Given the description of an element on the screen output the (x, y) to click on. 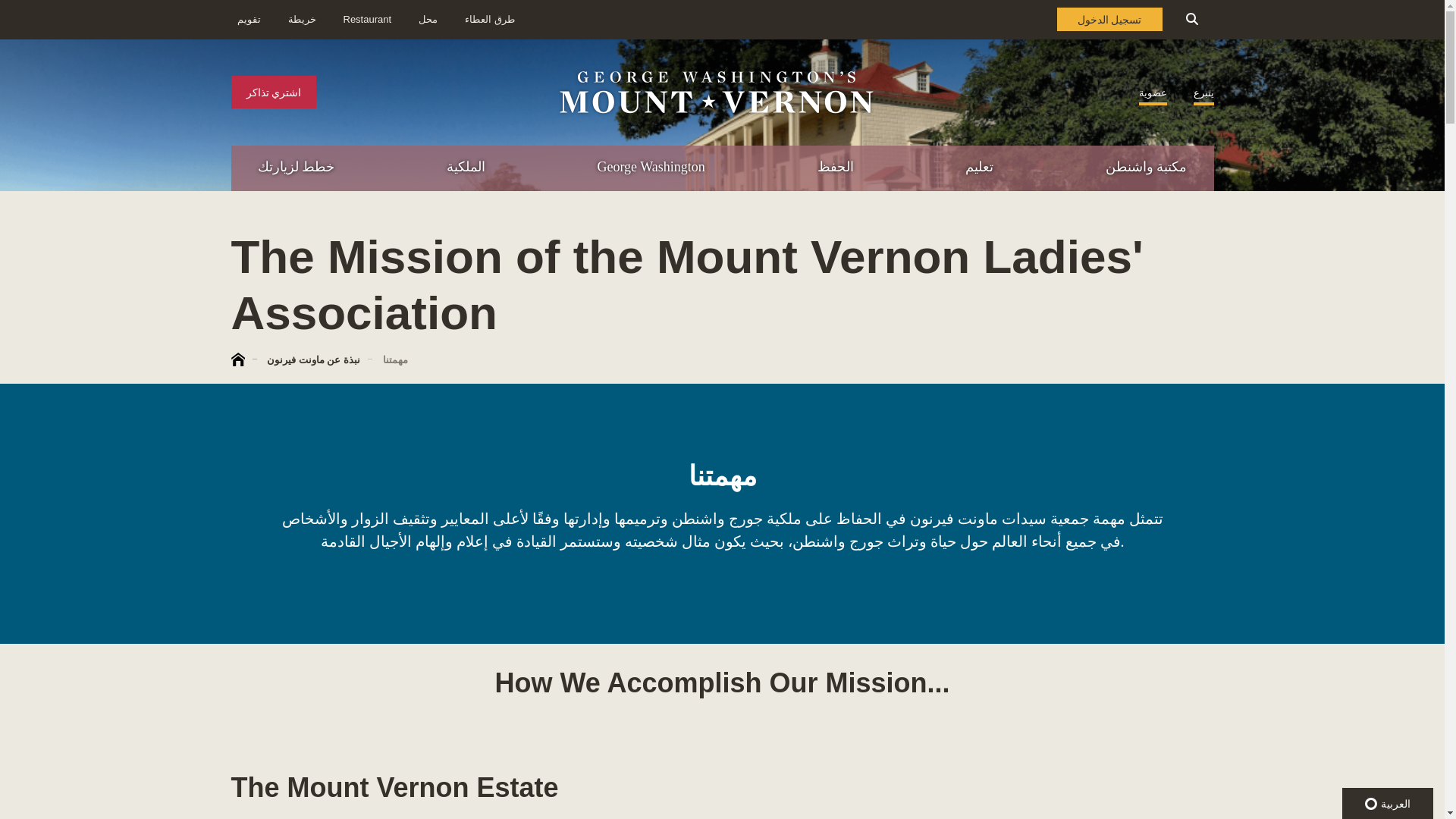
Restaurant (366, 19)
Restaurant (428, 19)
RESTAURANT (1377, 232)
SUPPORT (1283, 263)
